Given the description of an element on the screen output the (x, y) to click on. 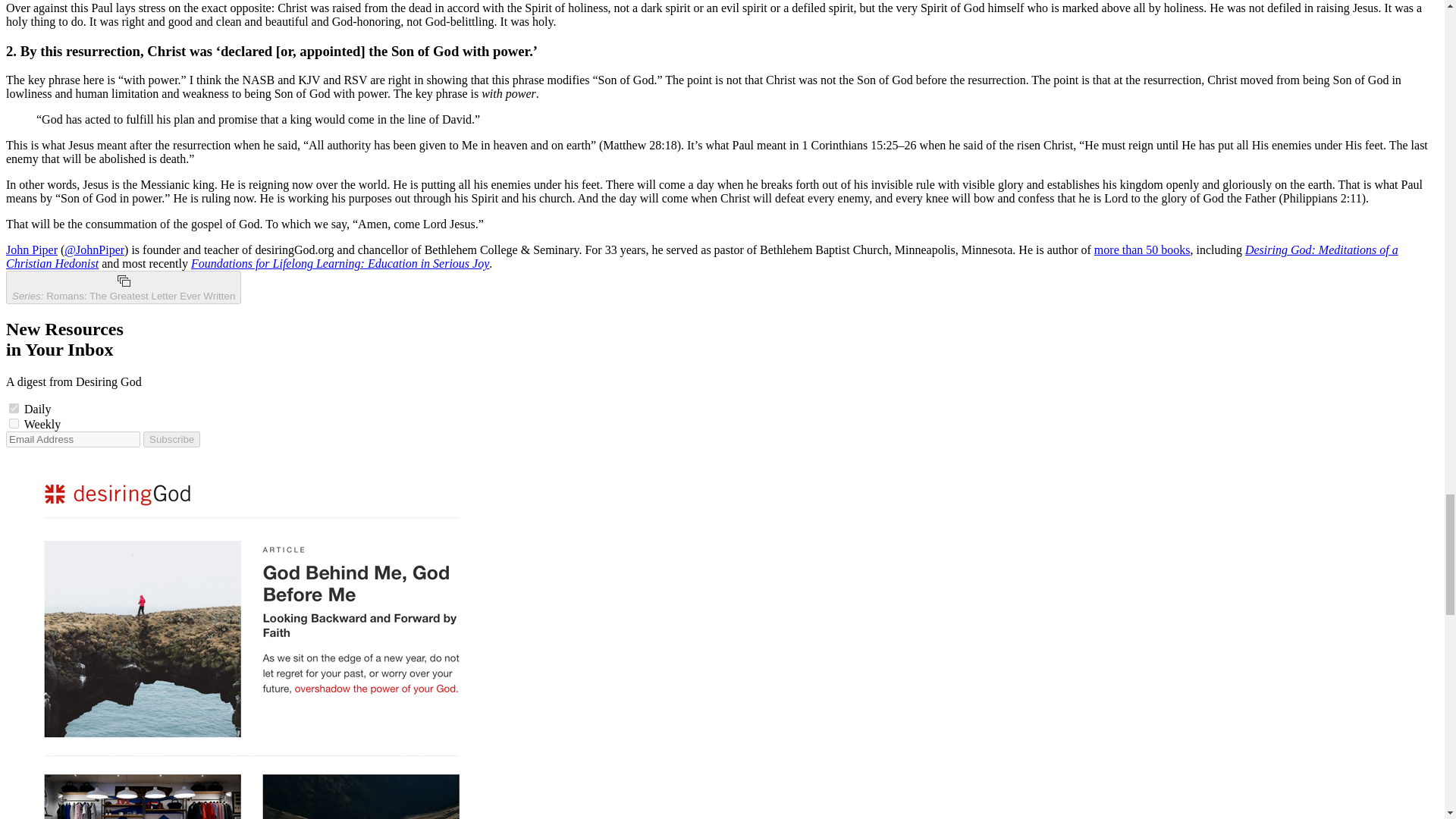
Series Icon (123, 280)
1 (13, 423)
1 (13, 408)
